Given the description of an element on the screen output the (x, y) to click on. 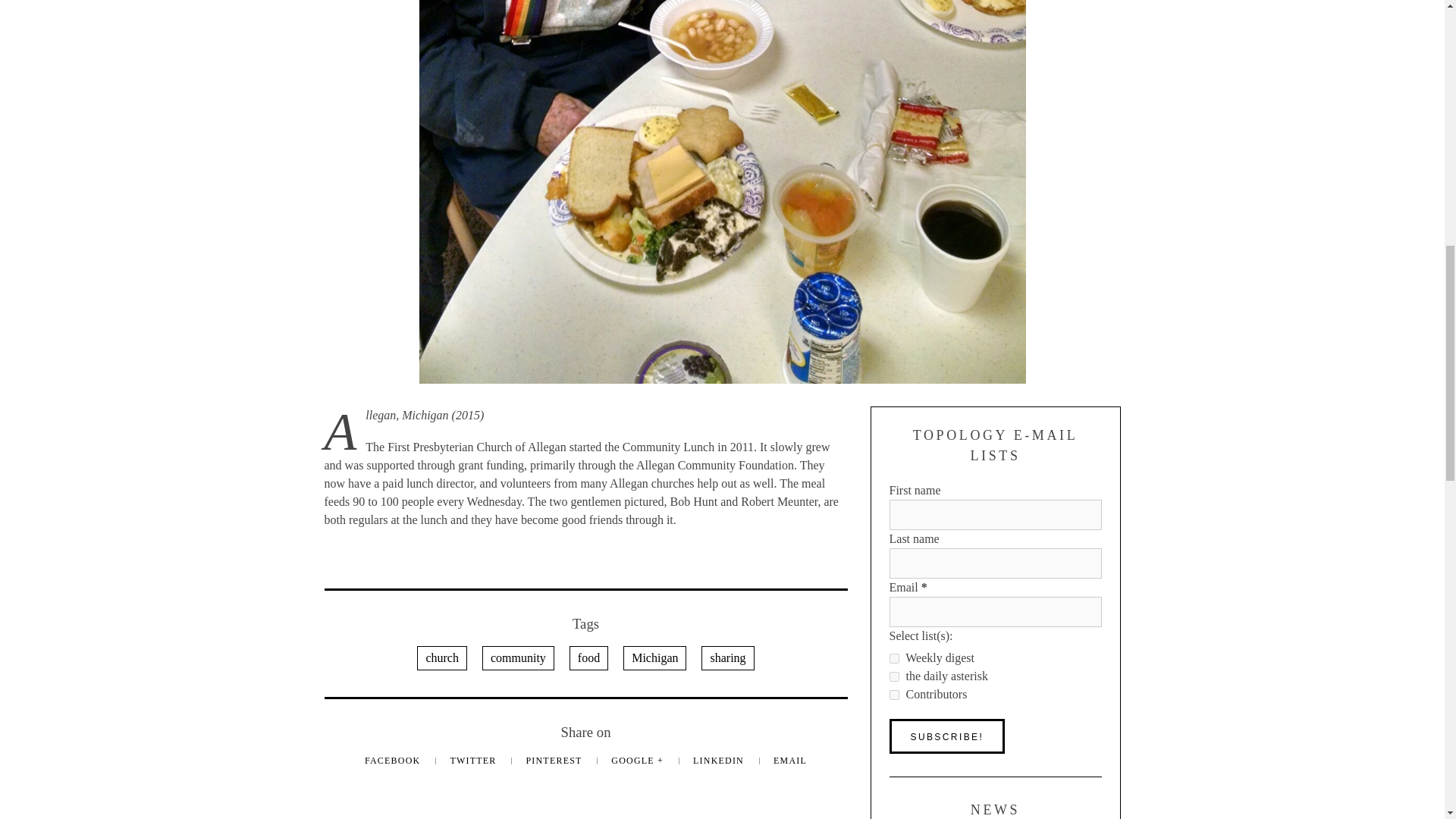
3 (893, 658)
Subscribe! (946, 736)
First name (994, 514)
Last name (994, 562)
4 (893, 676)
5 (893, 695)
Email (994, 612)
